Given the description of an element on the screen output the (x, y) to click on. 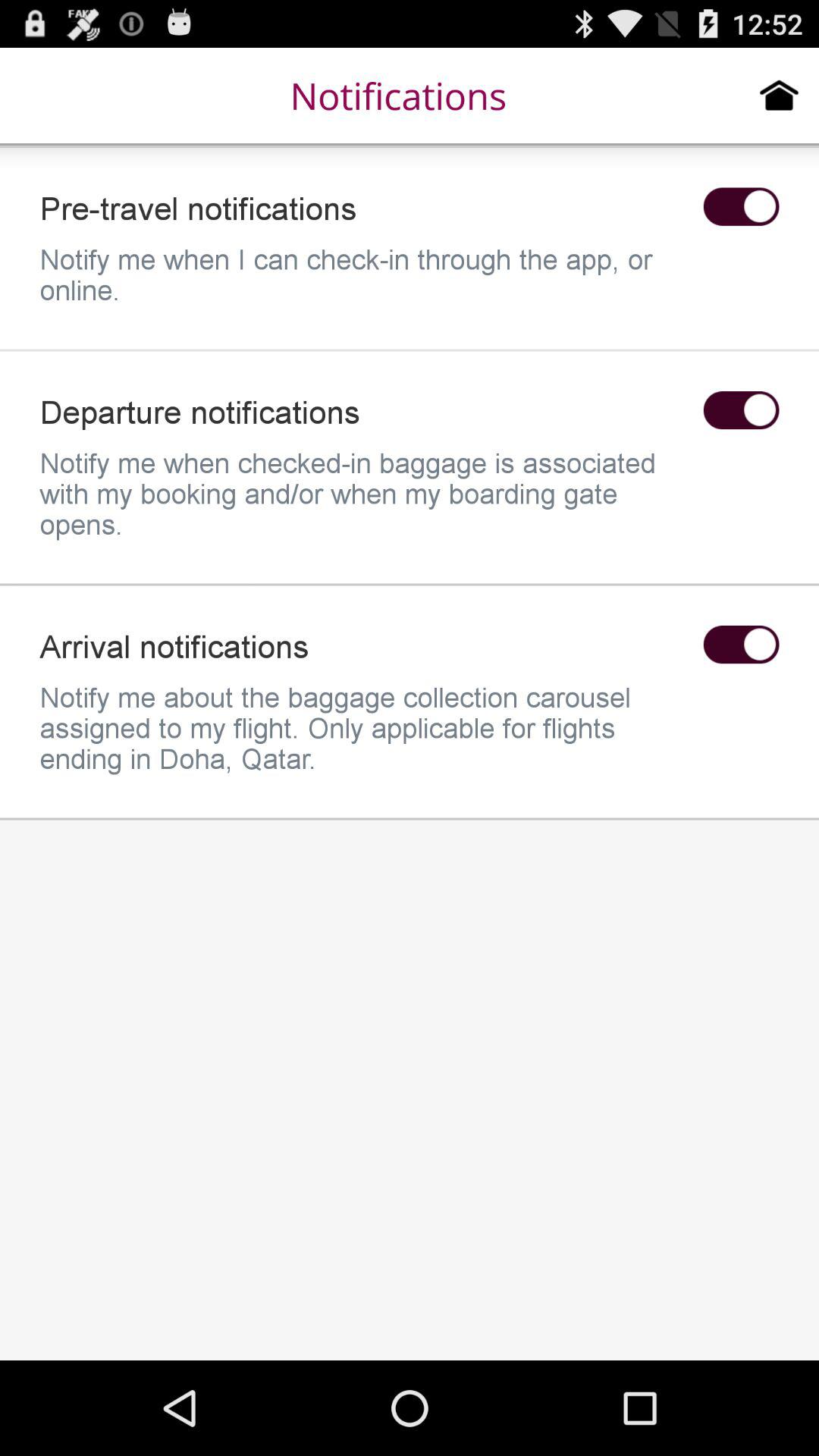
click icon next to notifications icon (779, 95)
